Given the description of an element on the screen output the (x, y) to click on. 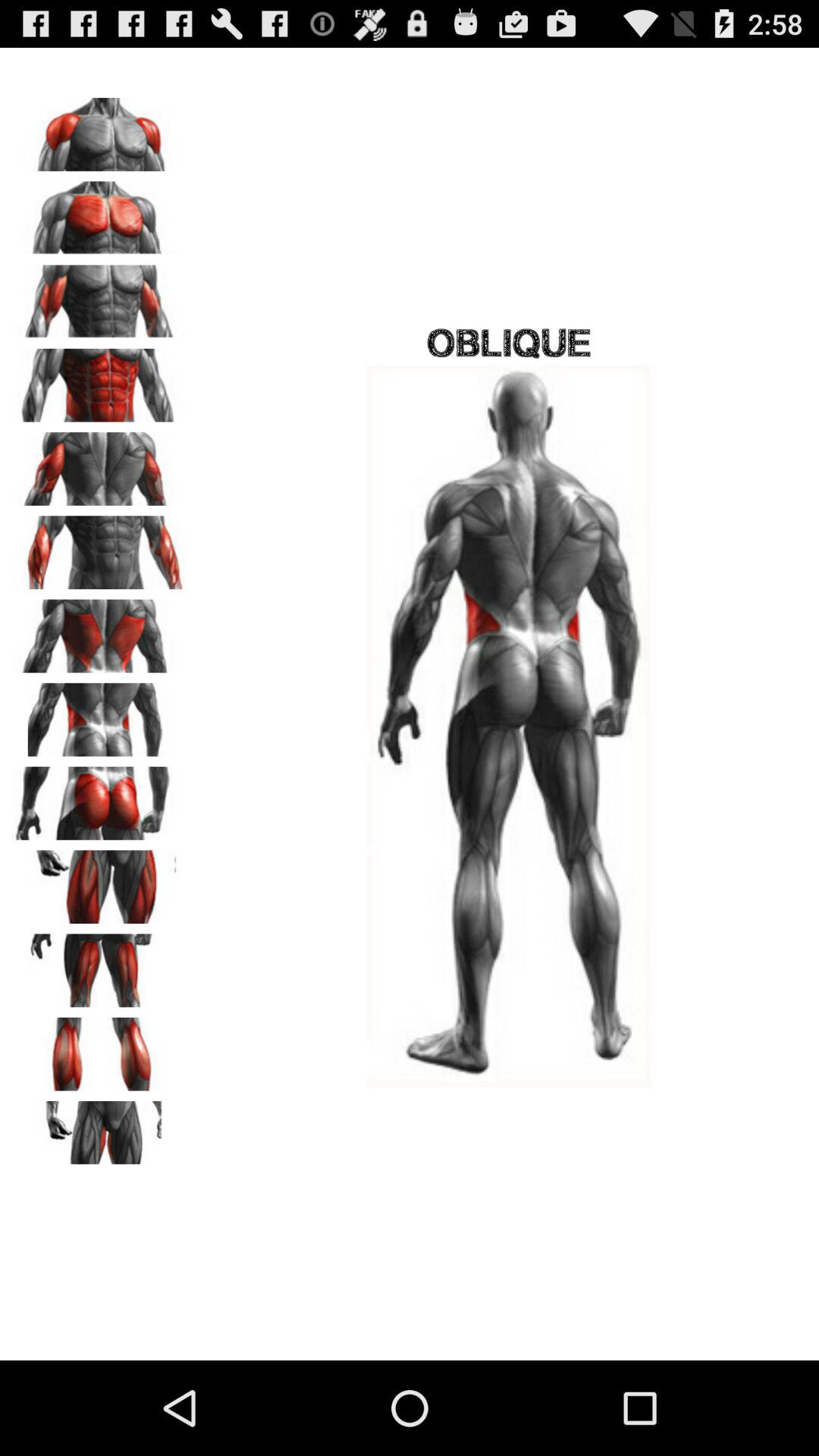
image 2 (99, 212)
